Given the description of an element on the screen output the (x, y) to click on. 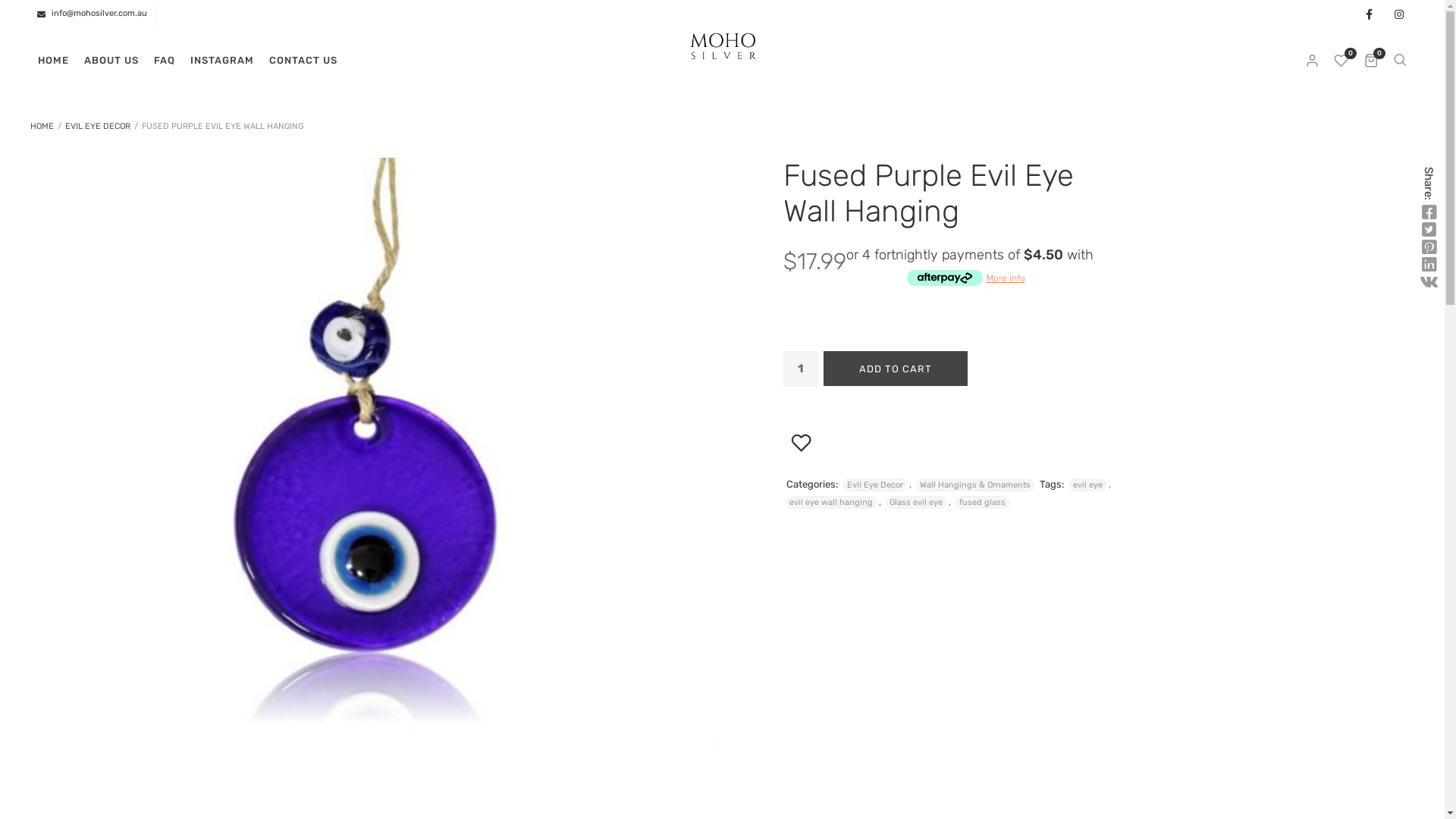
Search Products Element type: text (15, 13)
fused glass Element type: text (982, 501)
Share on LinkedIn Element type: hover (1428, 265)
Share on Pinterest Element type: hover (1428, 247)
_DSC0239_clipped_rev_2a Element type: hover (376, 481)
ADD TO CART Element type: text (895, 368)
Glass evil eye Element type: text (915, 501)
evil eye wall hanging Element type: text (830, 501)
Share on VK Element type: hover (1428, 282)
My Account Element type: hover (1313, 60)
HOME Element type: text (41, 126)
Follow on Instagram Element type: hover (1398, 15)
Qty Element type: hover (799, 368)
Log in Element type: text (767, 323)
Follow on Facebook Element type: hover (1368, 15)
HOME Element type: text (53, 60)
FAQ Element type: text (164, 60)
Search Element type: hover (1399, 60)
More info Element type: text (965, 276)
INSTAGRAM Element type: text (221, 60)
ABOUT US Element type: text (111, 60)
Share on Facebook Element type: hover (1428, 212)
evil eye Element type: text (1087, 484)
EVIL EYE DECOR Element type: text (97, 126)
Wall Hangings & Ornaments Element type: text (975, 484)
Evil Eye Decor Element type: text (874, 484)
Share on Twitter Element type: hover (1428, 230)
0 Element type: text (1370, 60)
CONTACT US Element type: text (303, 60)
0 Element type: text (1341, 60)
Add to wishlist Element type: text (800, 495)
